Given the description of an element on the screen output the (x, y) to click on. 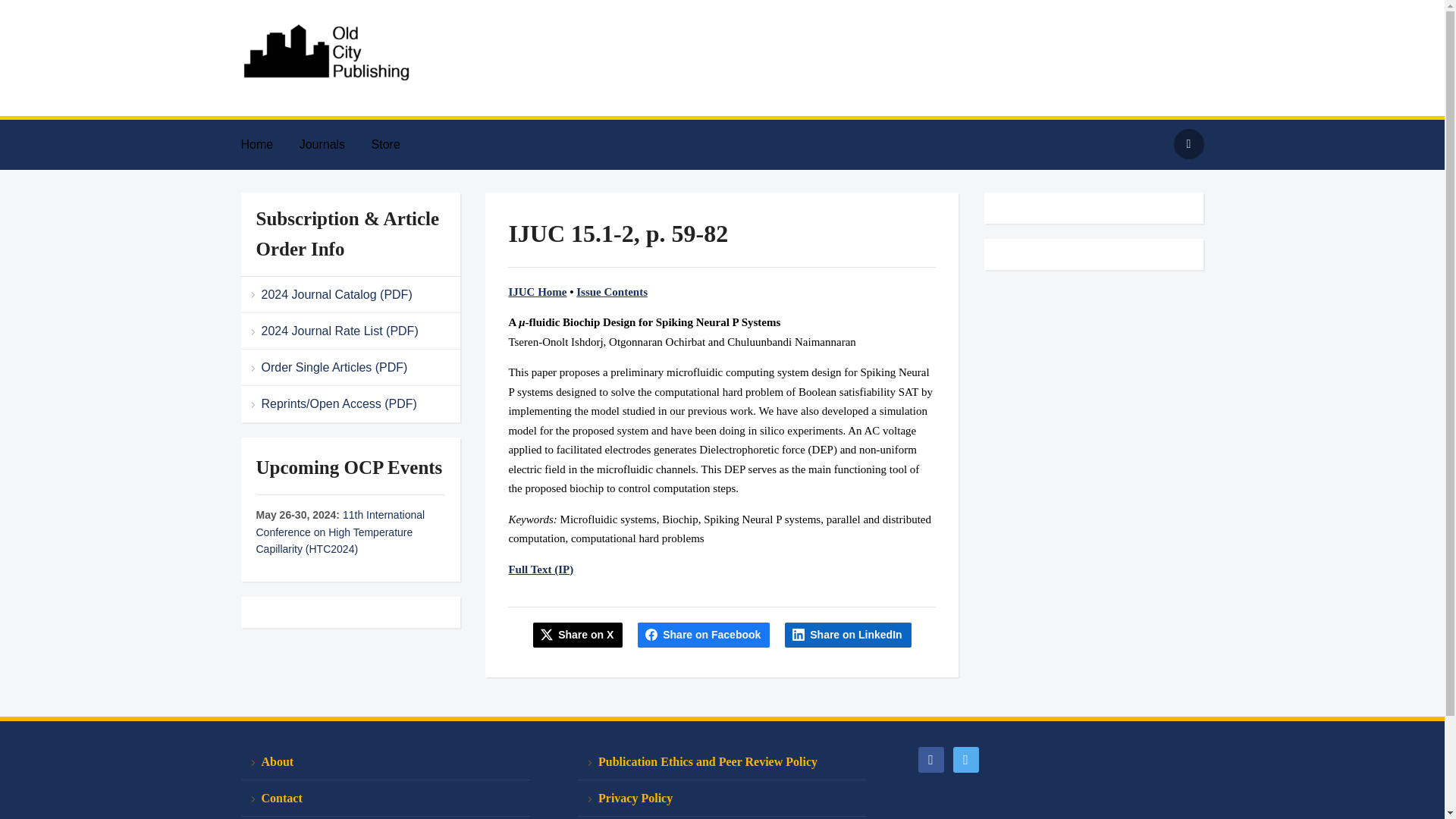
Search (1188, 143)
Privacy Policy (722, 798)
Friend me on Facebook (930, 757)
Publication Ethics and Peer Review Policy (722, 761)
Share this on X (577, 634)
Journals (333, 144)
Follow Me (965, 757)
Share on LinkedIn (847, 634)
About (385, 761)
Share on Facebook (703, 634)
Store (397, 144)
IJUC Home (537, 291)
Contact (385, 798)
